Given the description of an element on the screen output the (x, y) to click on. 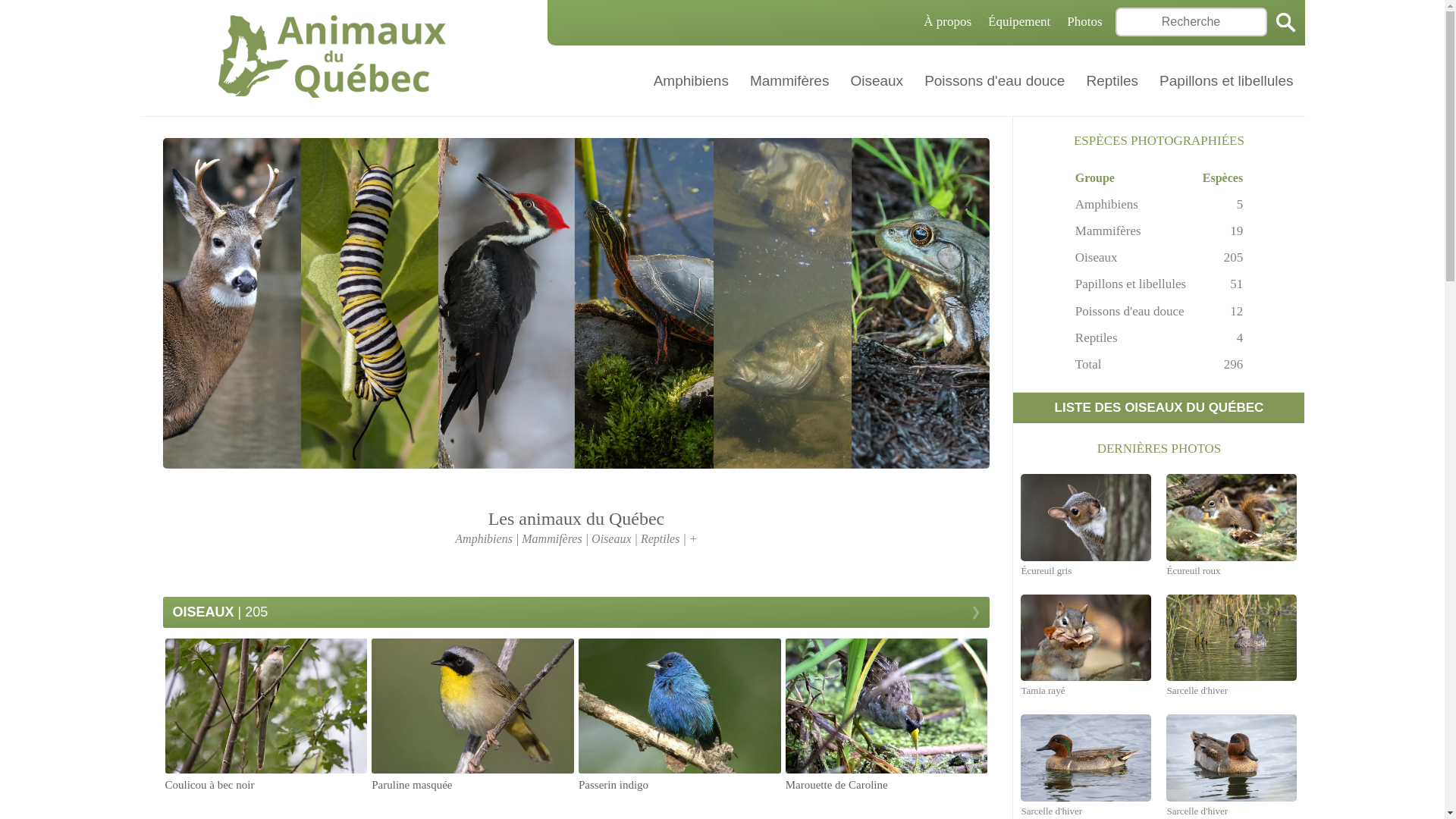
Passerin indigo Element type: text (679, 715)
Poissons d'eau douce Element type: text (995, 80)
Oiseaux Element type: text (877, 80)
Oiseaux Element type: text (1096, 257)
oiseaux-passerin-indigo-bunting Element type: hover (679, 706)
OISEAUX | 205 Element type: text (575, 611)
oiseaux-marouette-de-caroline-sora Element type: hover (886, 706)
Amphibiens Element type: text (691, 80)
oiseaux-coulicou-a-bec-noir-black-billed-cuckoo Element type: hover (266, 706)
oiseaux-paruline-masquee-common-yellowthroat Element type: hover (472, 706)
Amphibiens Element type: text (1106, 204)
Photos Element type: text (1084, 20)
Papillons et libellules Element type: text (1226, 80)
OISEAUX | 205 Element type: text (575, 611)
Papillons et libellules Element type: text (1130, 283)
Reptiles Element type: text (1112, 80)
Poissons d'eau douce Element type: text (1129, 311)
Reptiles Element type: text (1096, 337)
Marouette de Caroline Element type: text (886, 715)
